Given the description of an element on the screen output the (x, y) to click on. 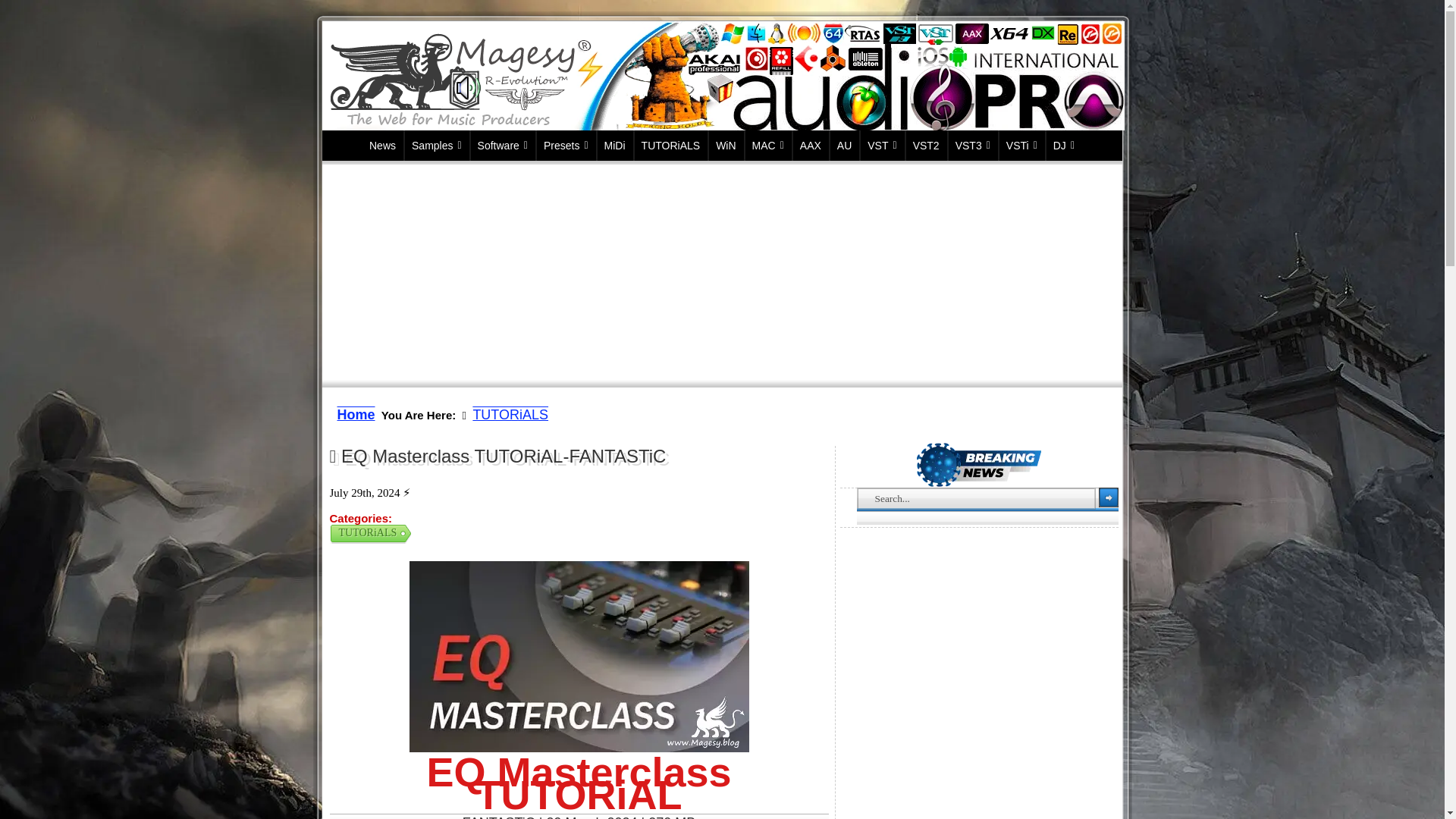
Presets (565, 145)
Search... (976, 498)
News (382, 145)
Software (502, 145)
Samples (436, 145)
News and Magazines (382, 145)
Download Audio Samples for Music Producers (436, 145)
